Given the description of an element on the screen output the (x, y) to click on. 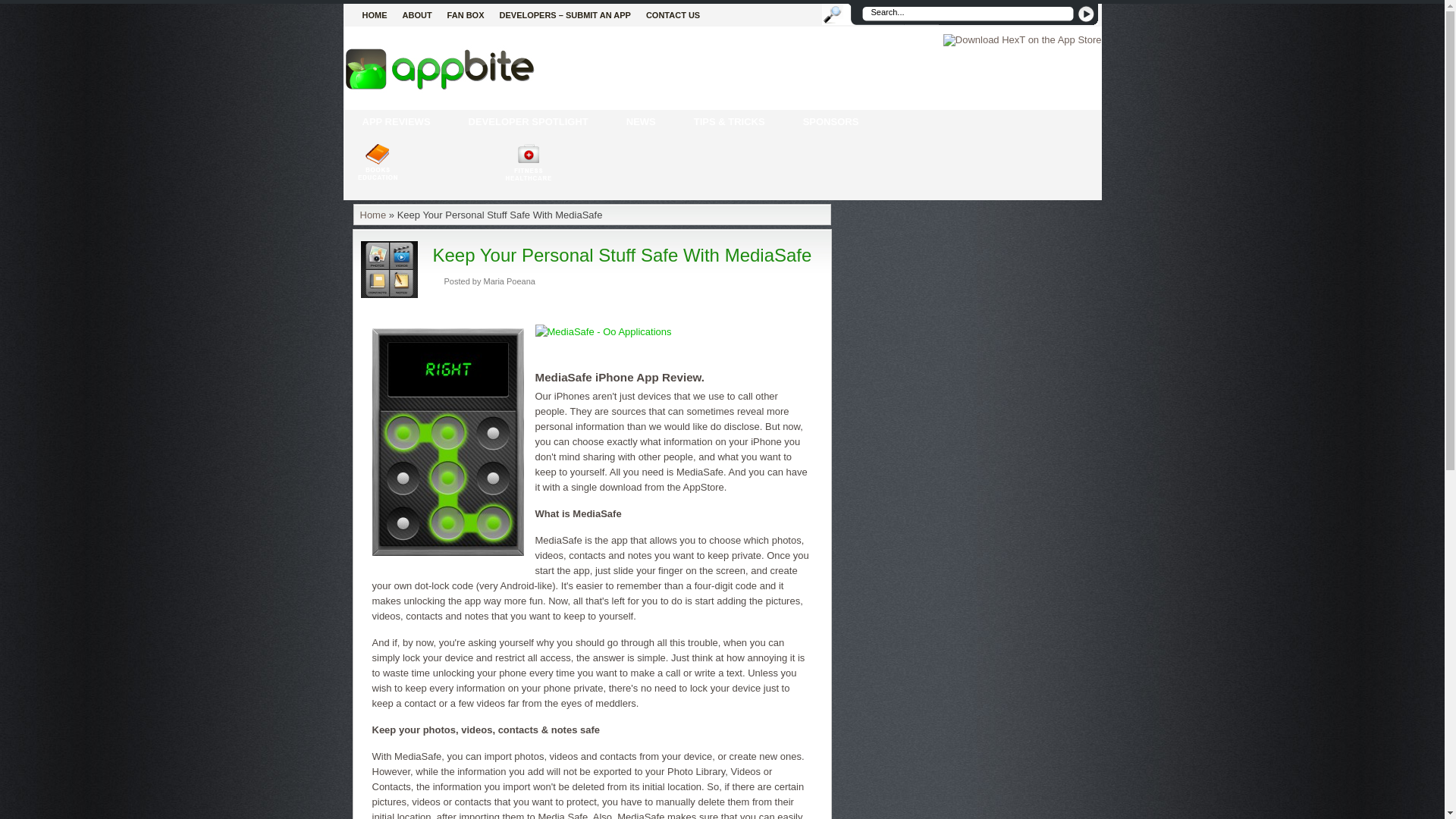
SPONSORS (830, 121)
iphone (395, 121)
CONTACT US (673, 15)
APP REVIEWS (395, 121)
Home (374, 15)
Keep Your Personal Stuff Safe With MediaSafe (621, 254)
DEVELOPER SPOTLIGHT (528, 121)
FAN BOX (465, 15)
Search... (966, 14)
HOME (374, 15)
NEWS (641, 121)
Fan Box (465, 15)
Download HexT on the App Store (1022, 39)
ABOUT (416, 15)
Contact us (673, 15)
